Given the description of an element on the screen output the (x, y) to click on. 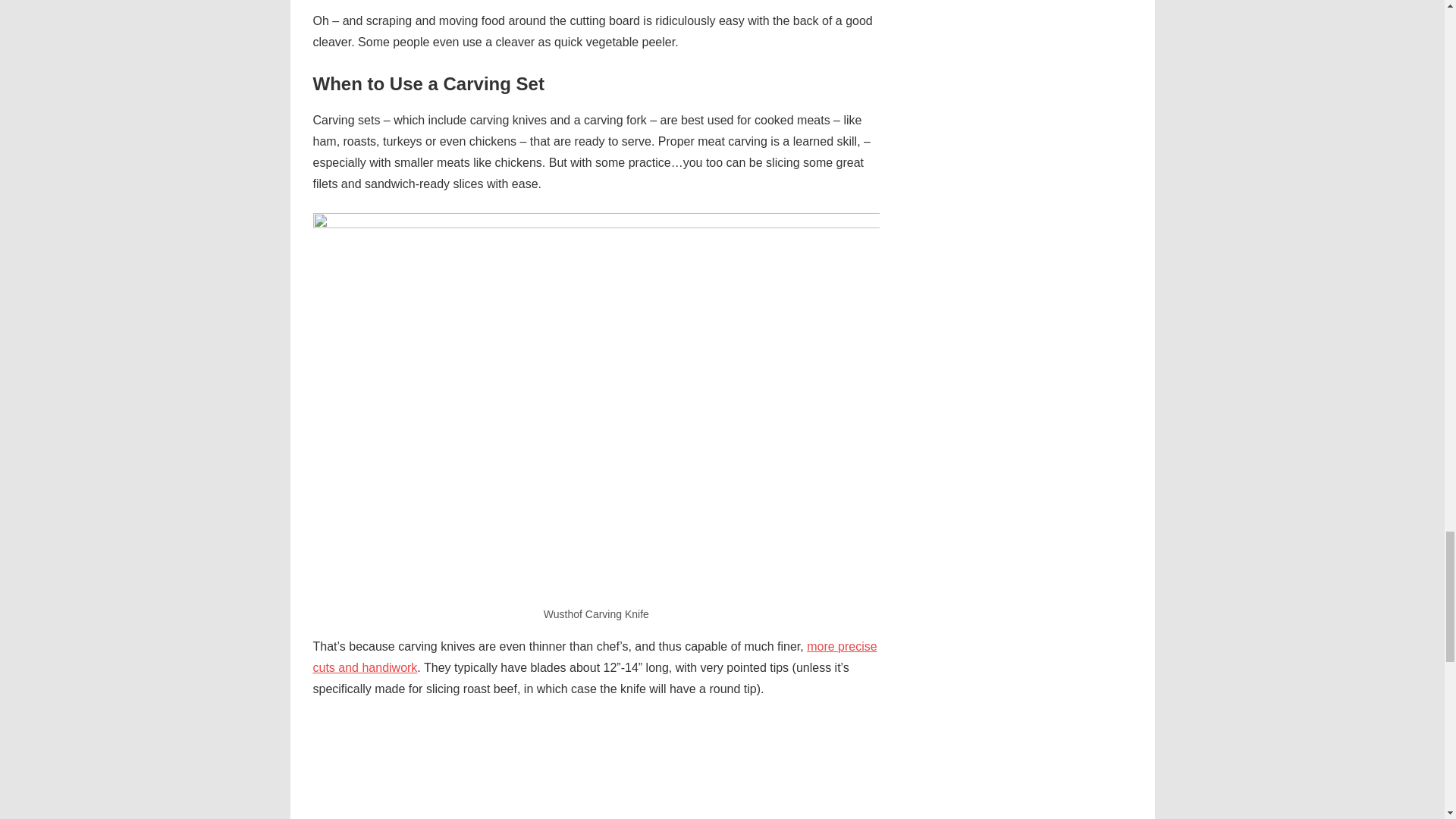
more precise cuts and handiwork (594, 656)
How to Use a Carving Knife (596, 768)
